Given the description of an element on the screen output the (x, y) to click on. 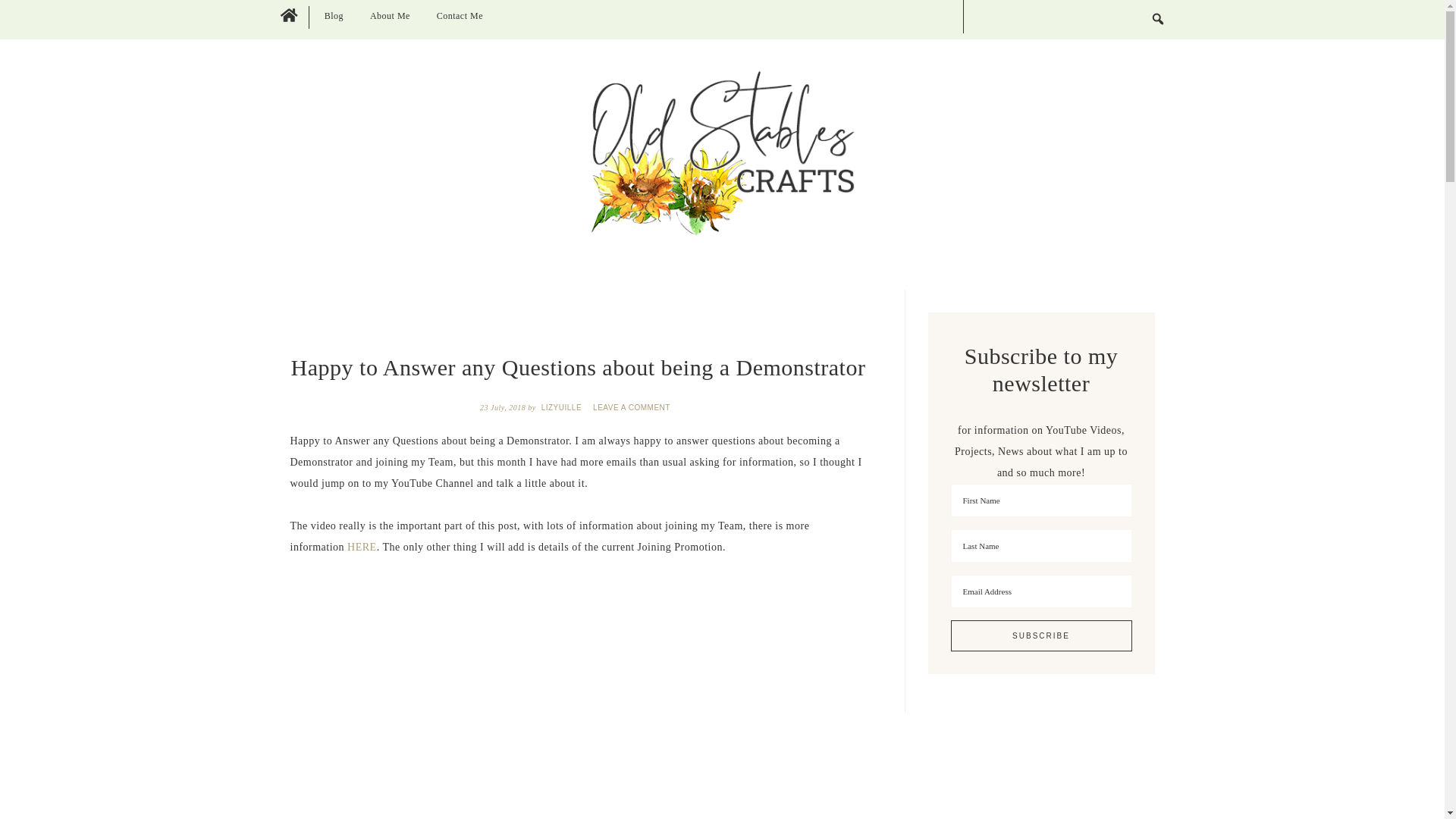
Subscribe (1041, 635)
Contact Me (460, 15)
About Me (390, 15)
LEAVE A COMMENT (633, 407)
Blog (334, 15)
Happy to Answer any Questions about being a Demonstrator (478, 685)
HERE (362, 546)
OLD STABLES CRAFTS (722, 153)
Subscribe (1041, 635)
LIZYUILLE (563, 407)
